Given the description of an element on the screen output the (x, y) to click on. 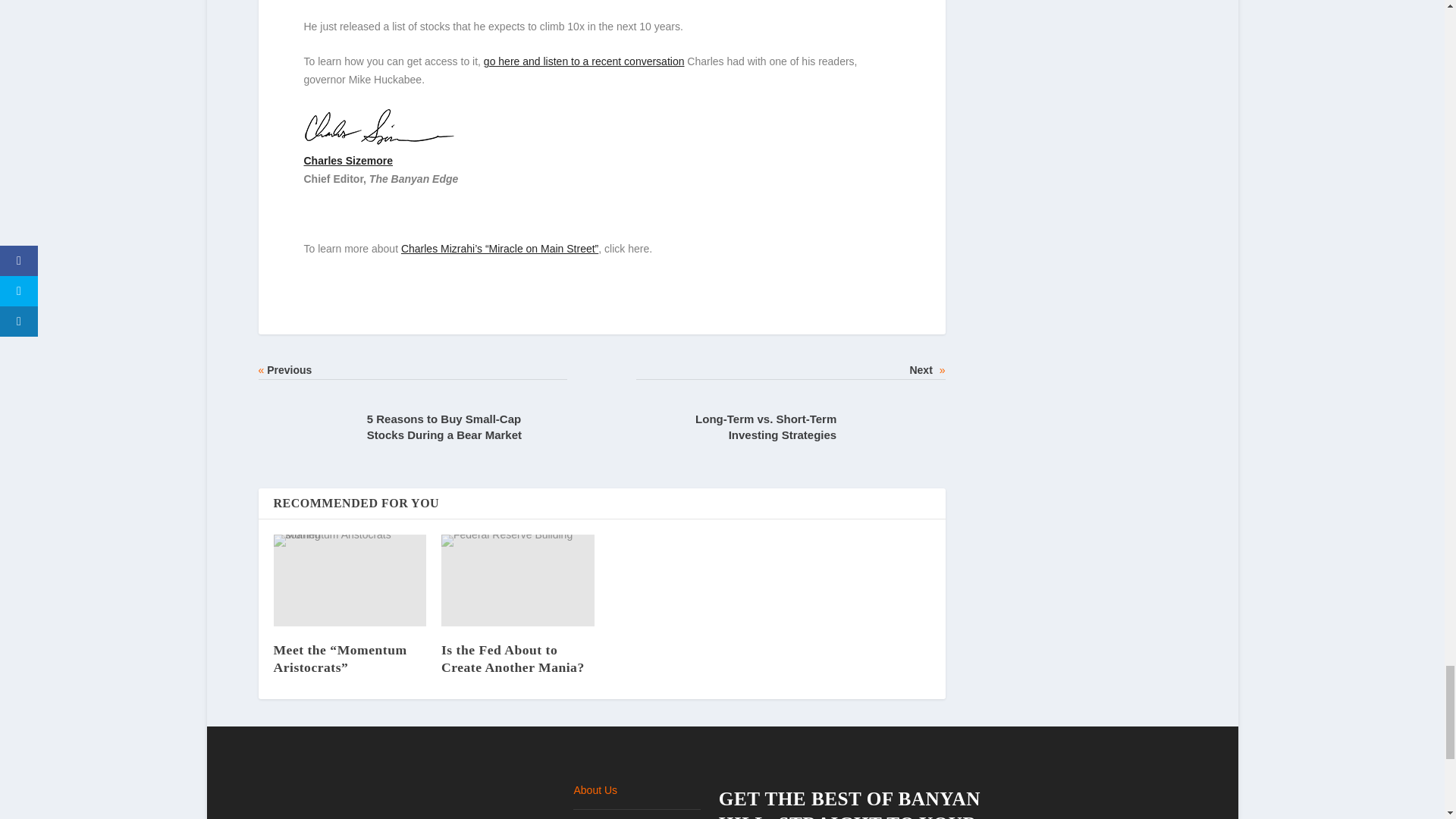
go here and listen to a recent conversation (583, 61)
Is the Fed About to Create Another Mania? (517, 580)
Is the Fed About to Create Another Mania? (513, 658)
Charles Sizemore (347, 160)
